Given the description of an element on the screen output the (x, y) to click on. 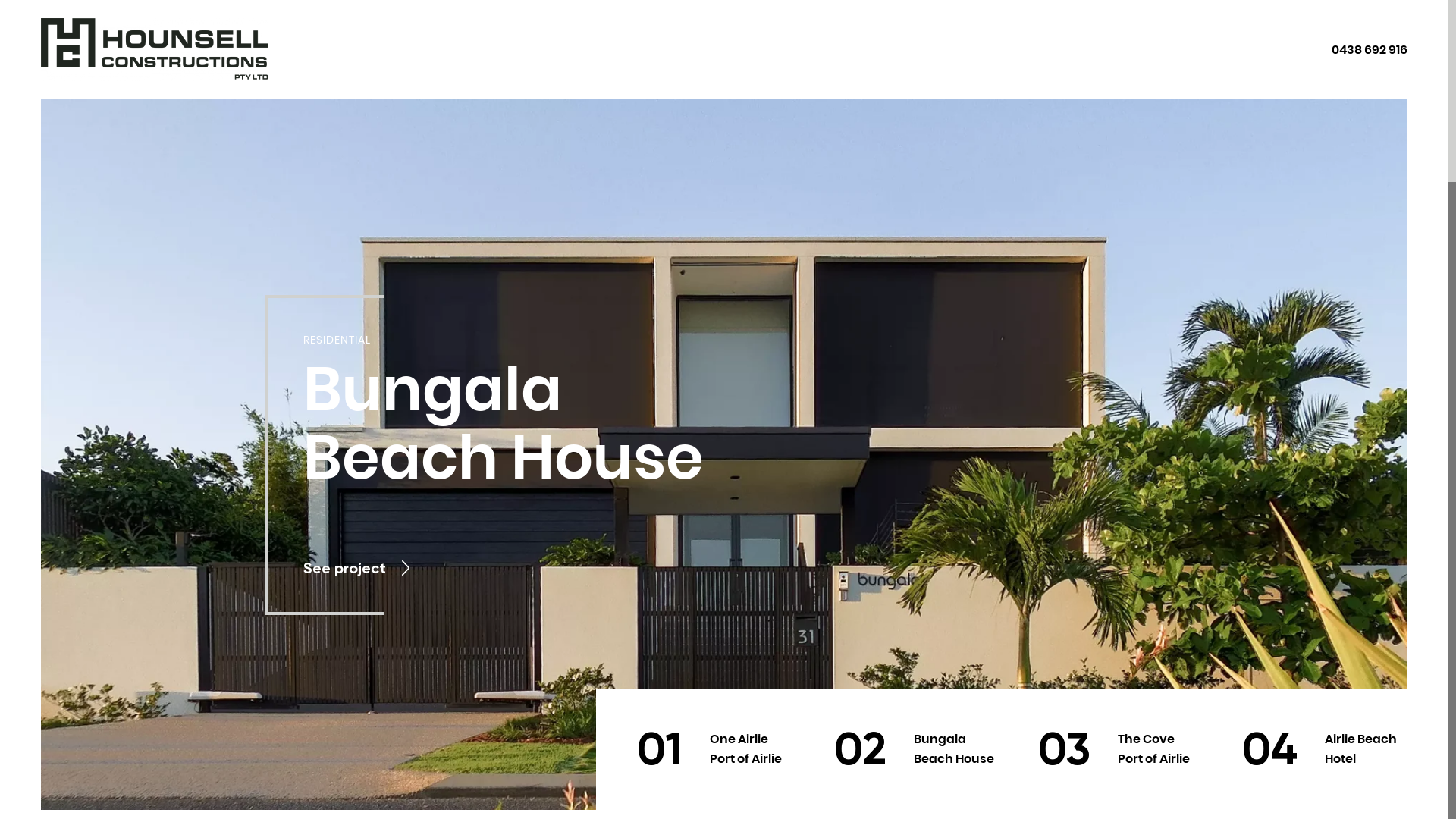
See project Element type: text (358, 568)
0438 692 916 Element type: text (1369, 49)
